Given the description of an element on the screen output the (x, y) to click on. 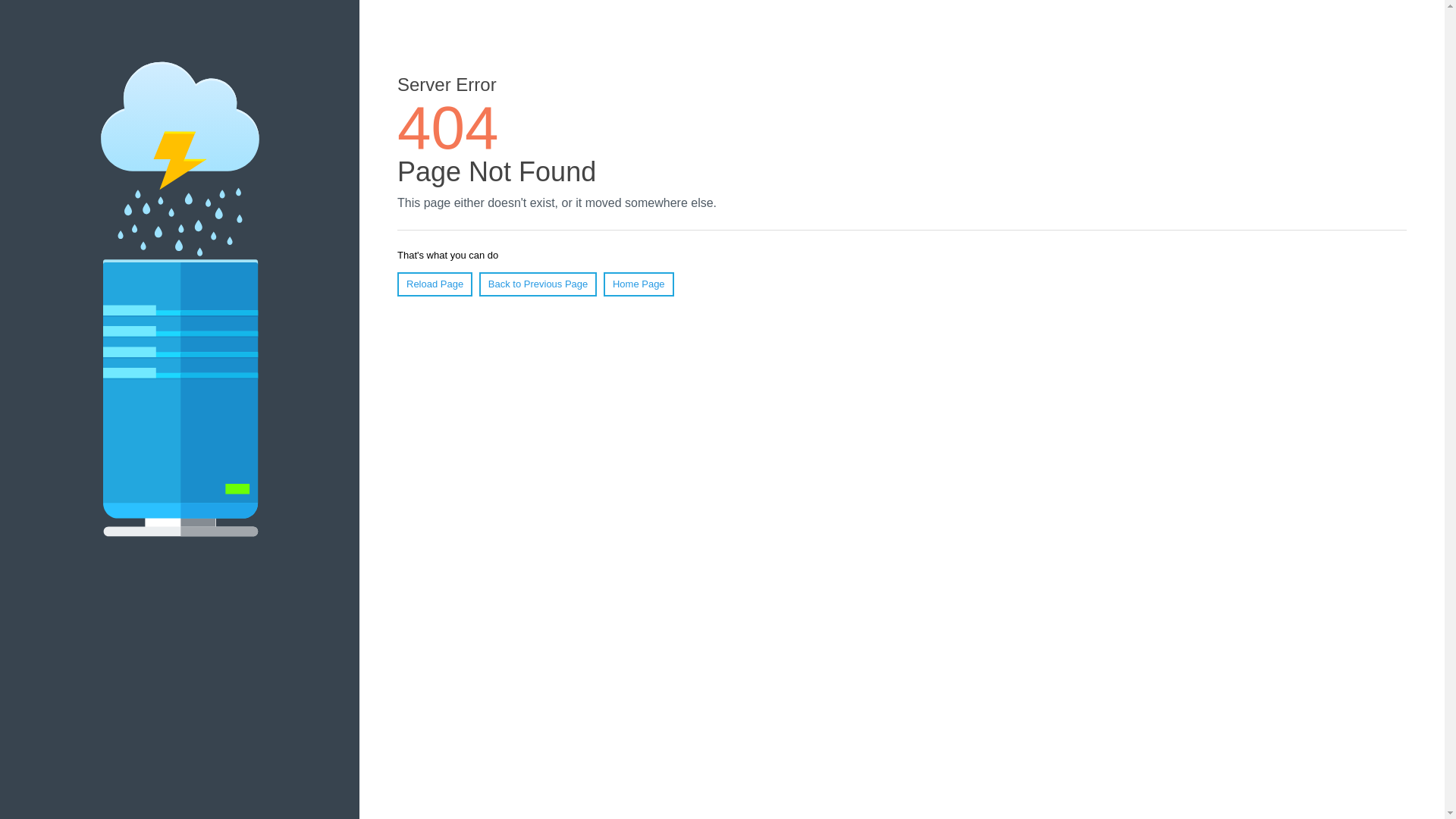
Reload Page Element type: text (434, 284)
Back to Previous Page Element type: text (538, 284)
Home Page Element type: text (638, 284)
